Given the description of an element on the screen output the (x, y) to click on. 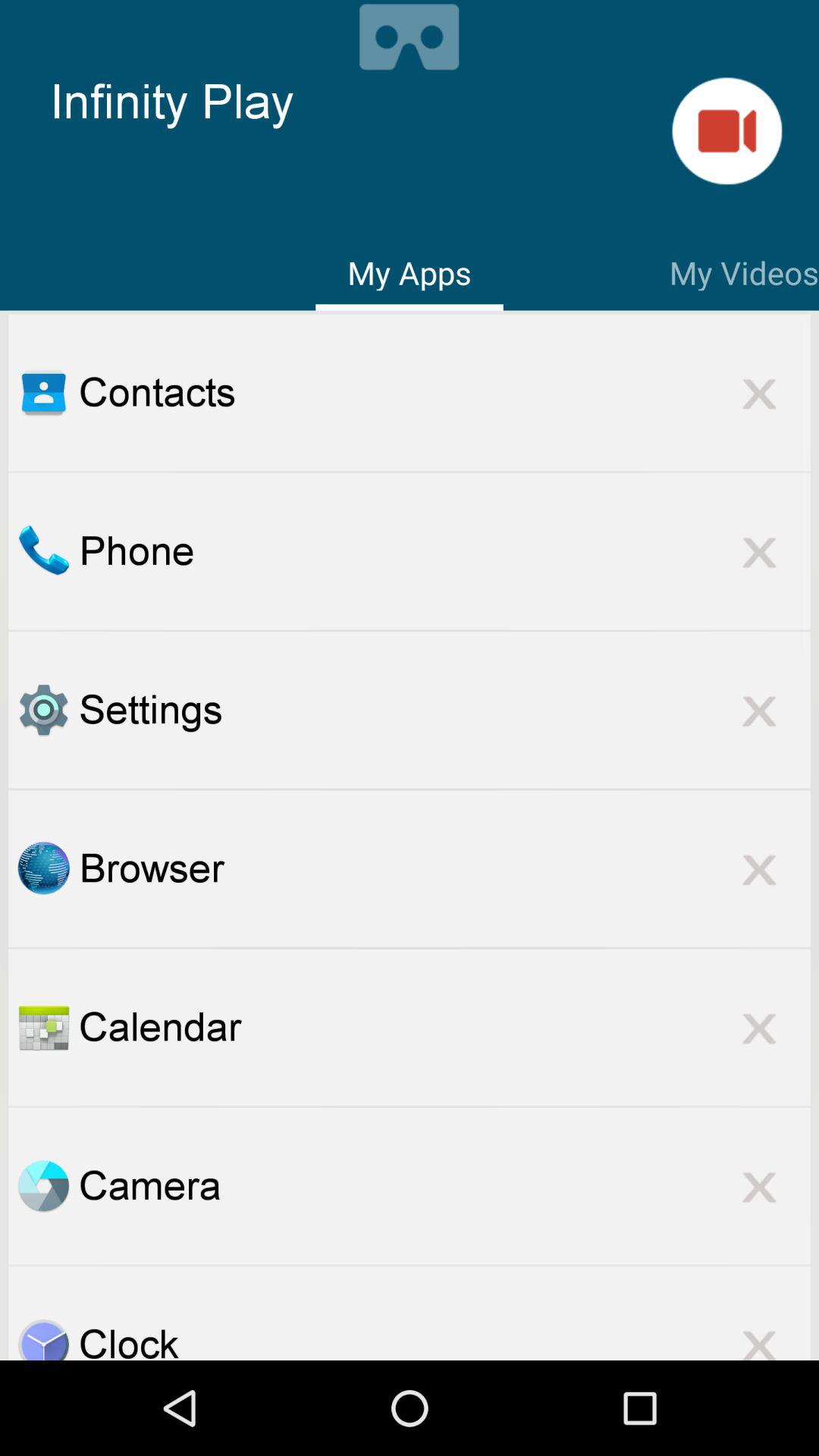
manage clock (43, 1338)
